Given the description of an element on the screen output the (x, y) to click on. 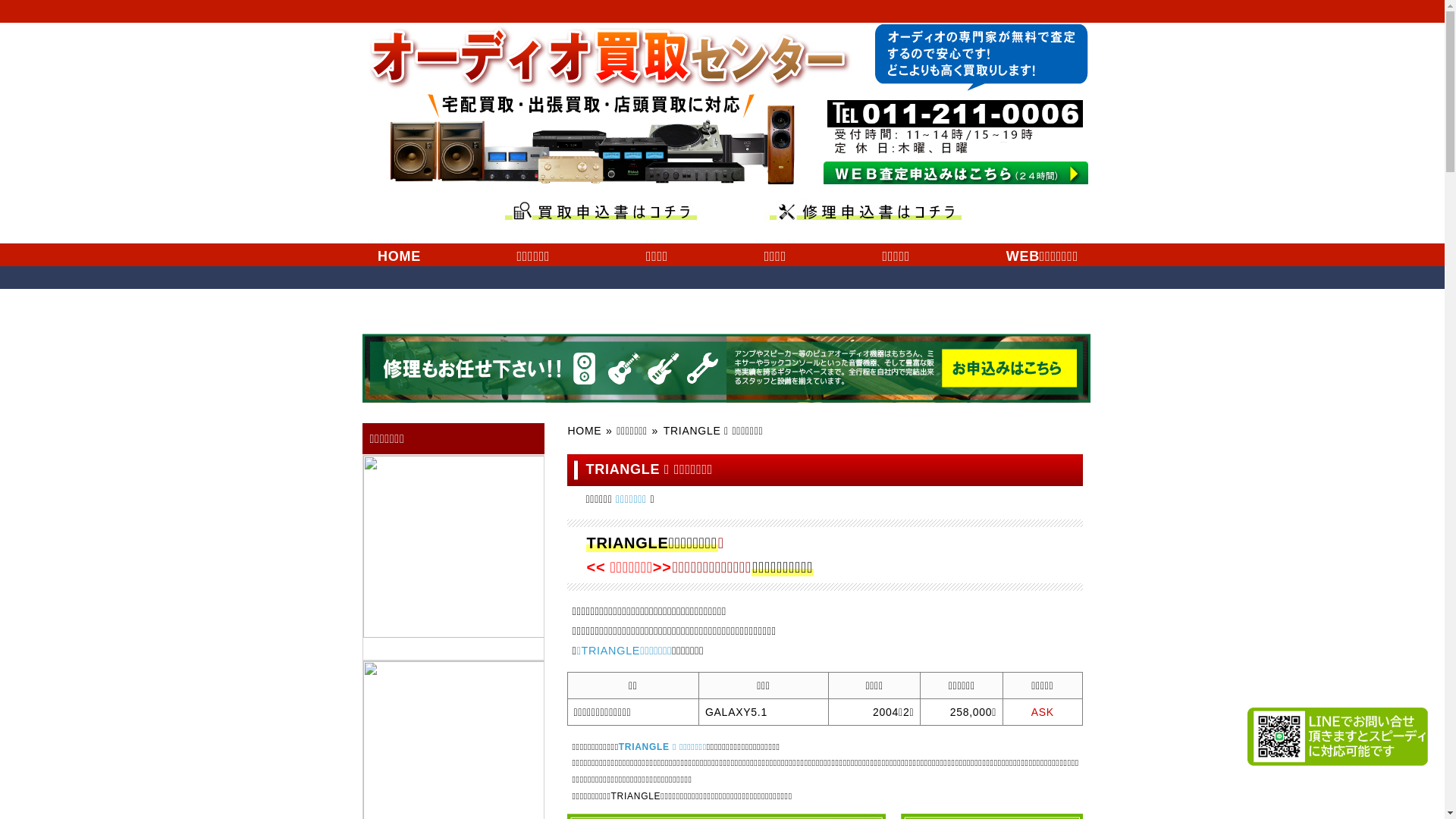
HOME Element type: text (398, 254)
HOME Element type: text (584, 430)
